Given the description of an element on the screen output the (x, y) to click on. 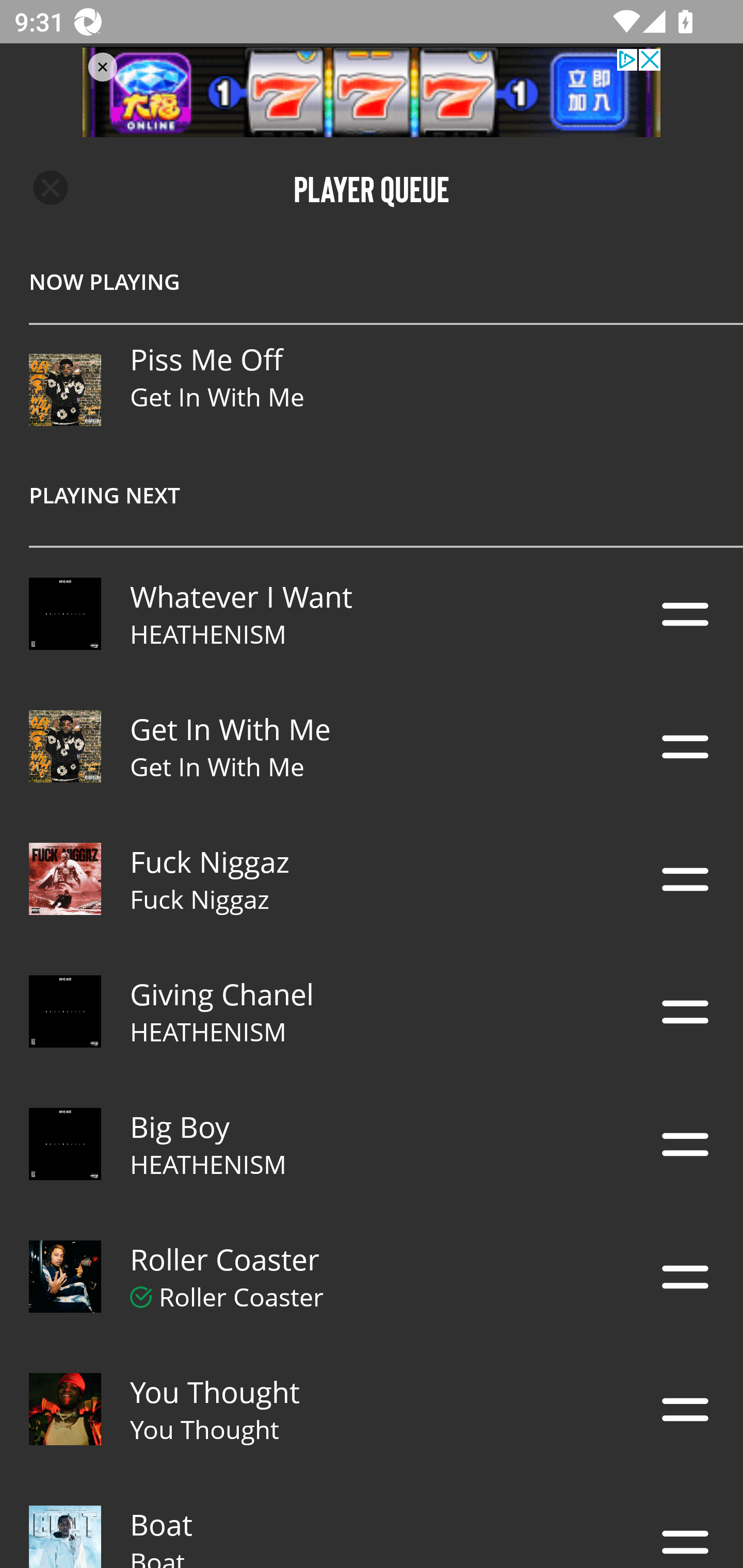
privacy (371, 92)
Navigate up (50, 187)
Description Whatever I Want HEATHENISM Description (371, 613)
Description Fuck Niggaz Fuck Niggaz Description (371, 878)
Description Giving Chanel HEATHENISM Description (371, 1011)
Description Big Boy HEATHENISM Description (371, 1144)
Description You Thought You Thought Description (371, 1409)
Description Boat Boat Description (371, 1521)
